Given the description of an element on the screen output the (x, y) to click on. 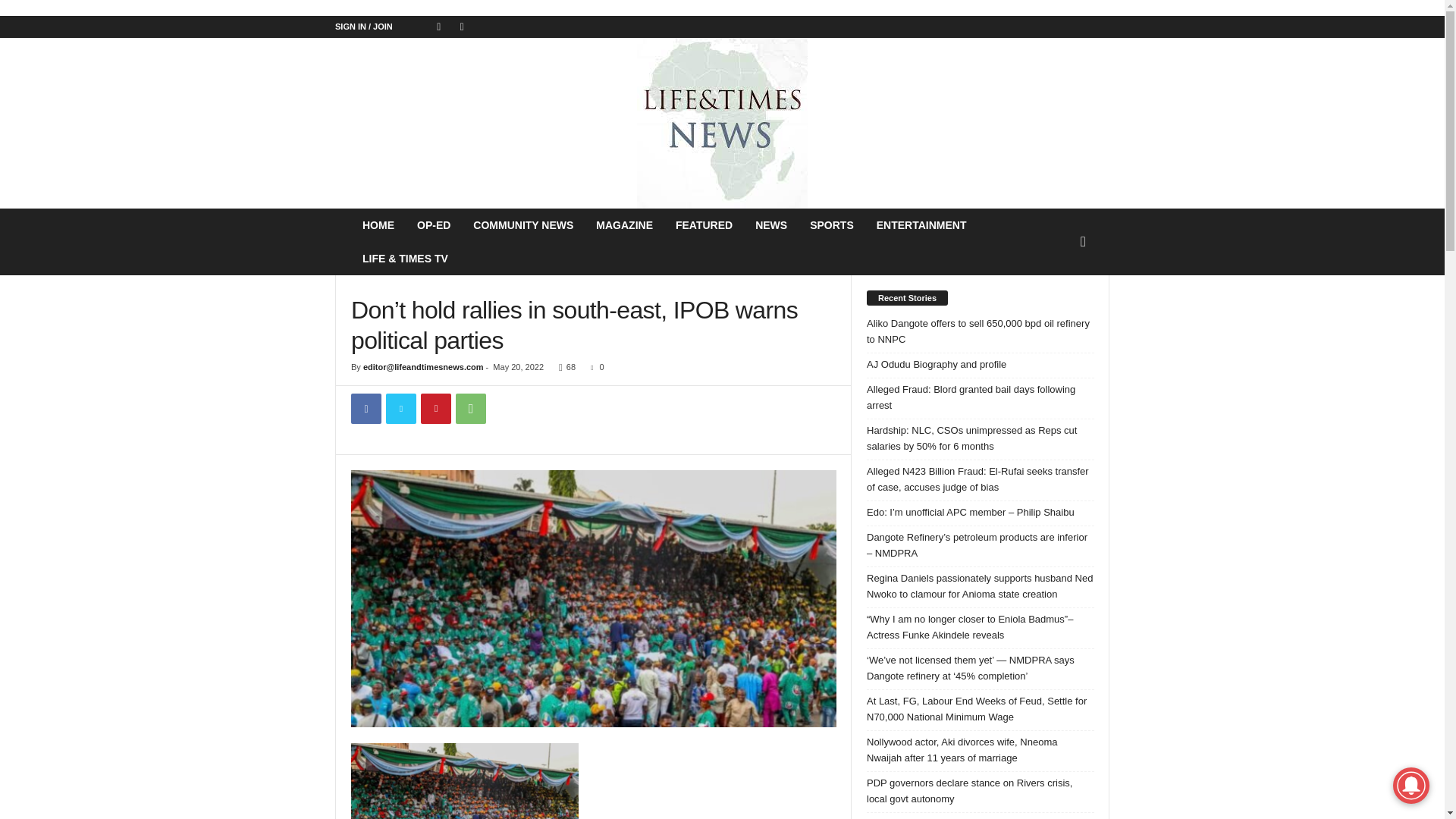
COMMUNITY NEWS (523, 224)
0 (594, 366)
HOME (378, 224)
Facebook (365, 408)
Pinterest (435, 408)
SPORTS (830, 224)
WhatsApp (470, 408)
hjdjug (592, 598)
NEWS (770, 224)
Twitter (400, 408)
MAGAZINE (624, 224)
FEATURED (703, 224)
ENTERTAINMENT (921, 224)
OP-ED (433, 224)
